Given the description of an element on the screen output the (x, y) to click on. 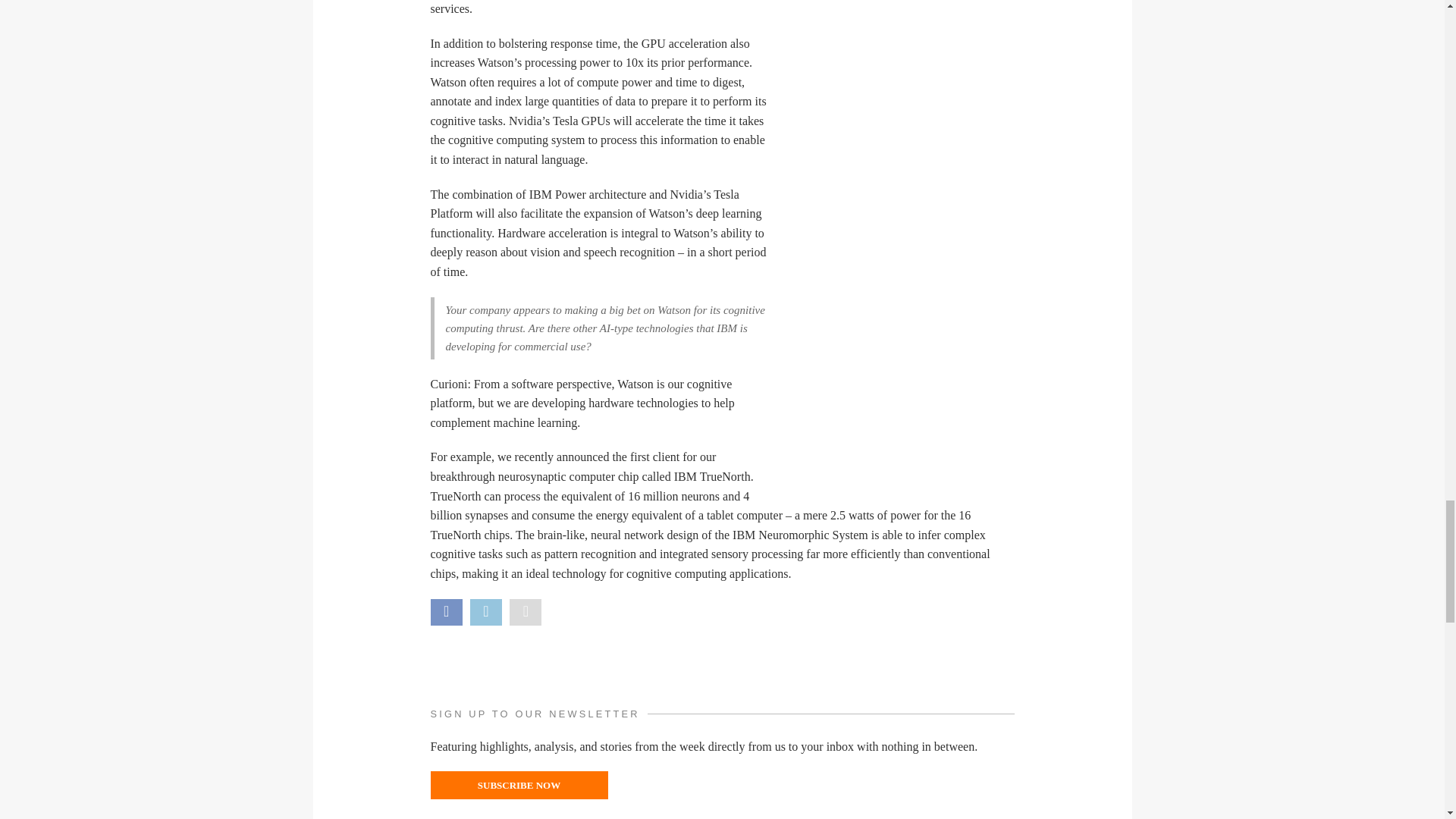
3rd party ad content (900, 260)
